Given the description of an element on the screen output the (x, y) to click on. 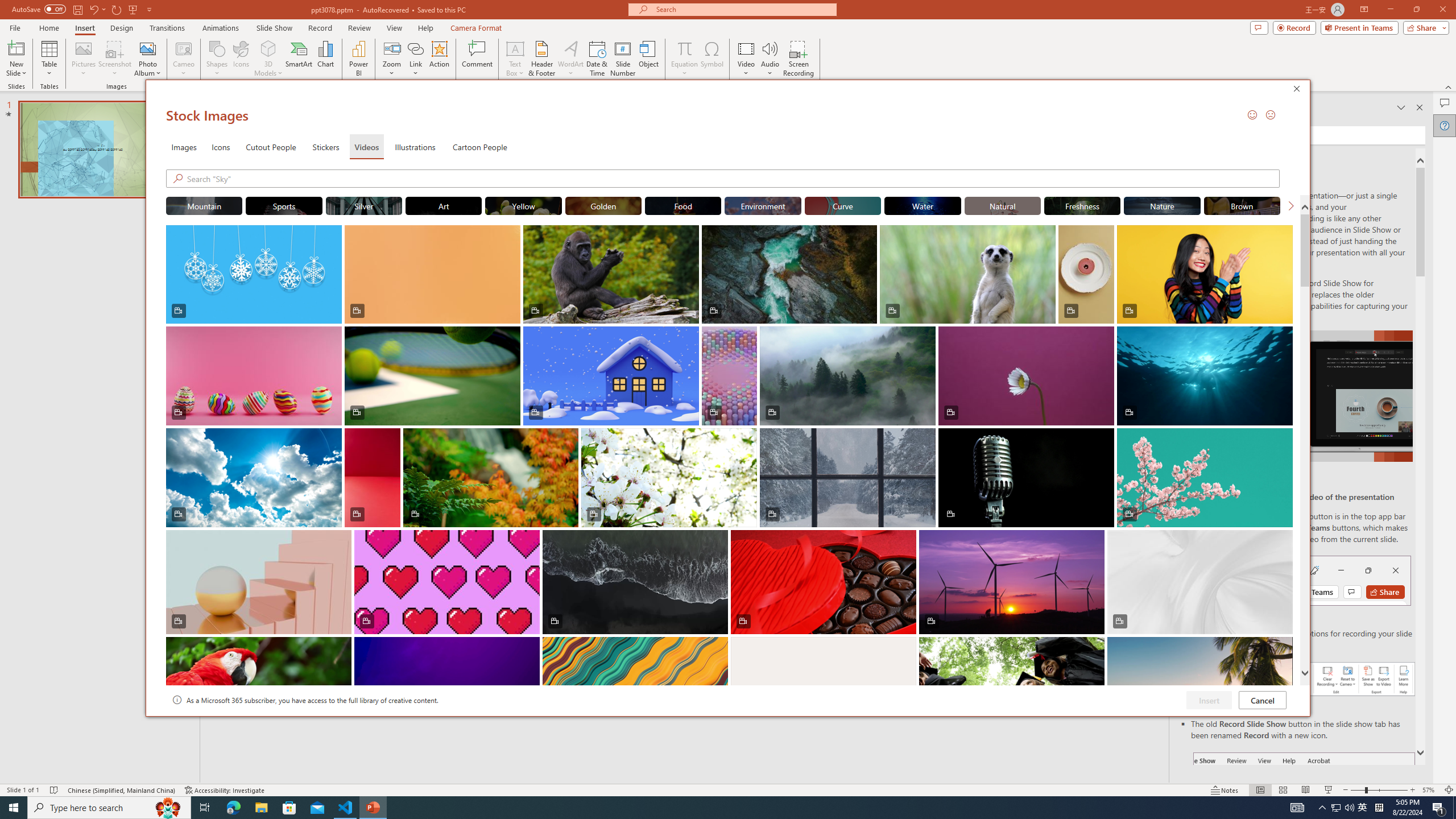
Cartoon People (479, 146)
Slide Number (622, 58)
3D Models (268, 58)
SmartArt... (298, 58)
"Curve" Stock Videos. (842, 205)
Images (183, 146)
